Given the description of an element on the screen output the (x, y) to click on. 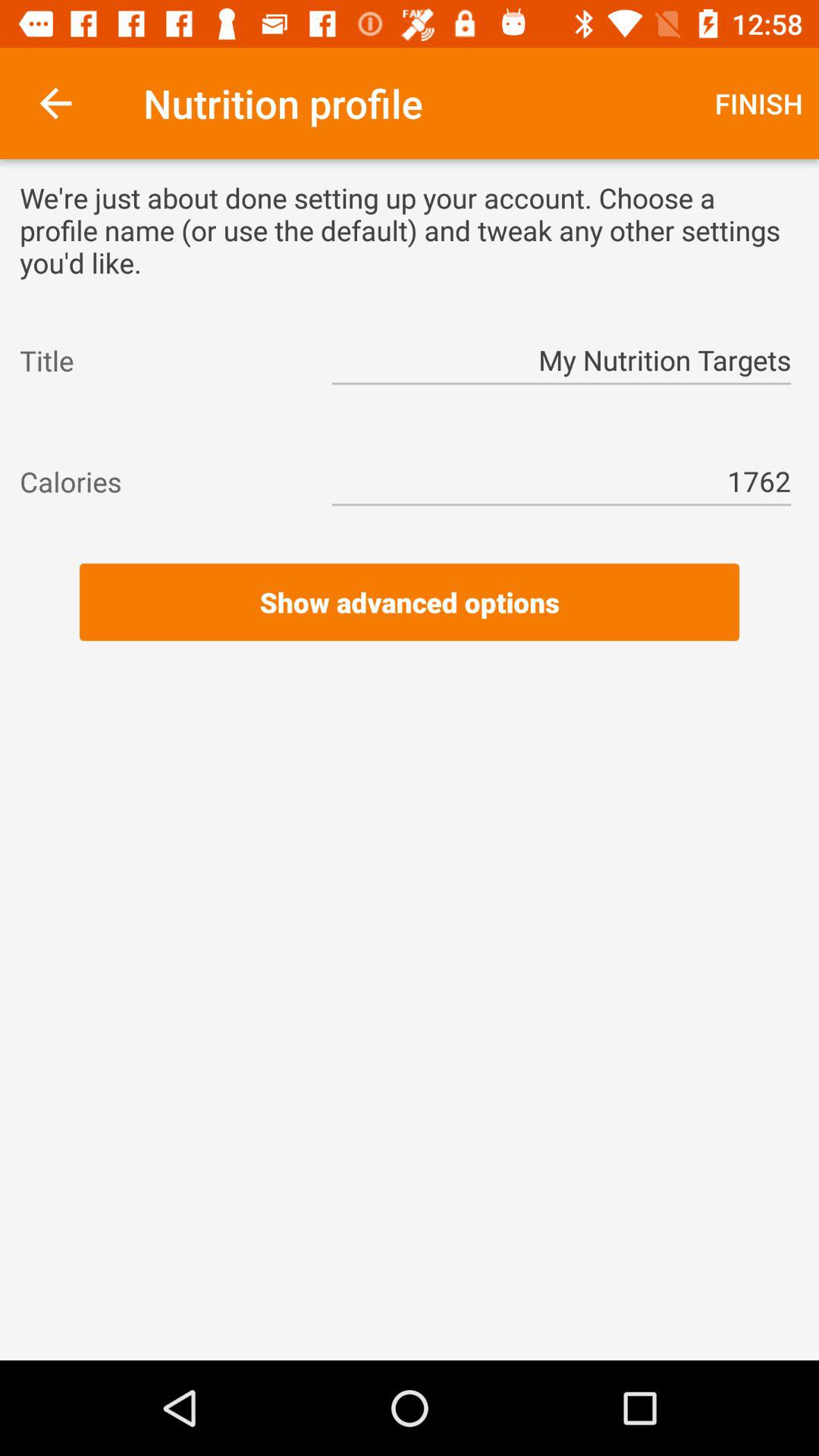
jump until the title item (161, 360)
